Given the description of an element on the screen output the (x, y) to click on. 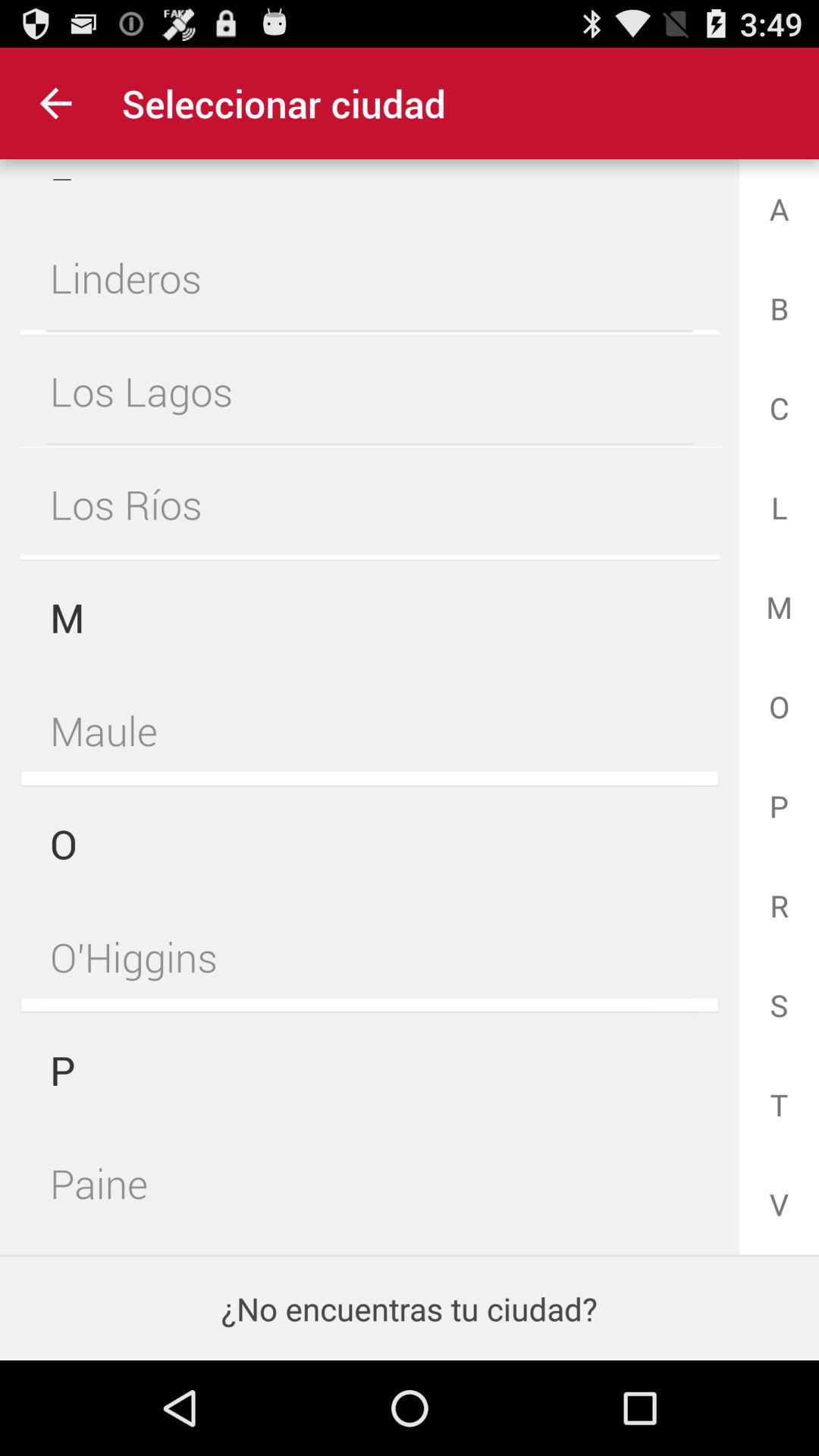
select item above the l icon (55, 103)
